Given the description of an element on the screen output the (x, y) to click on. 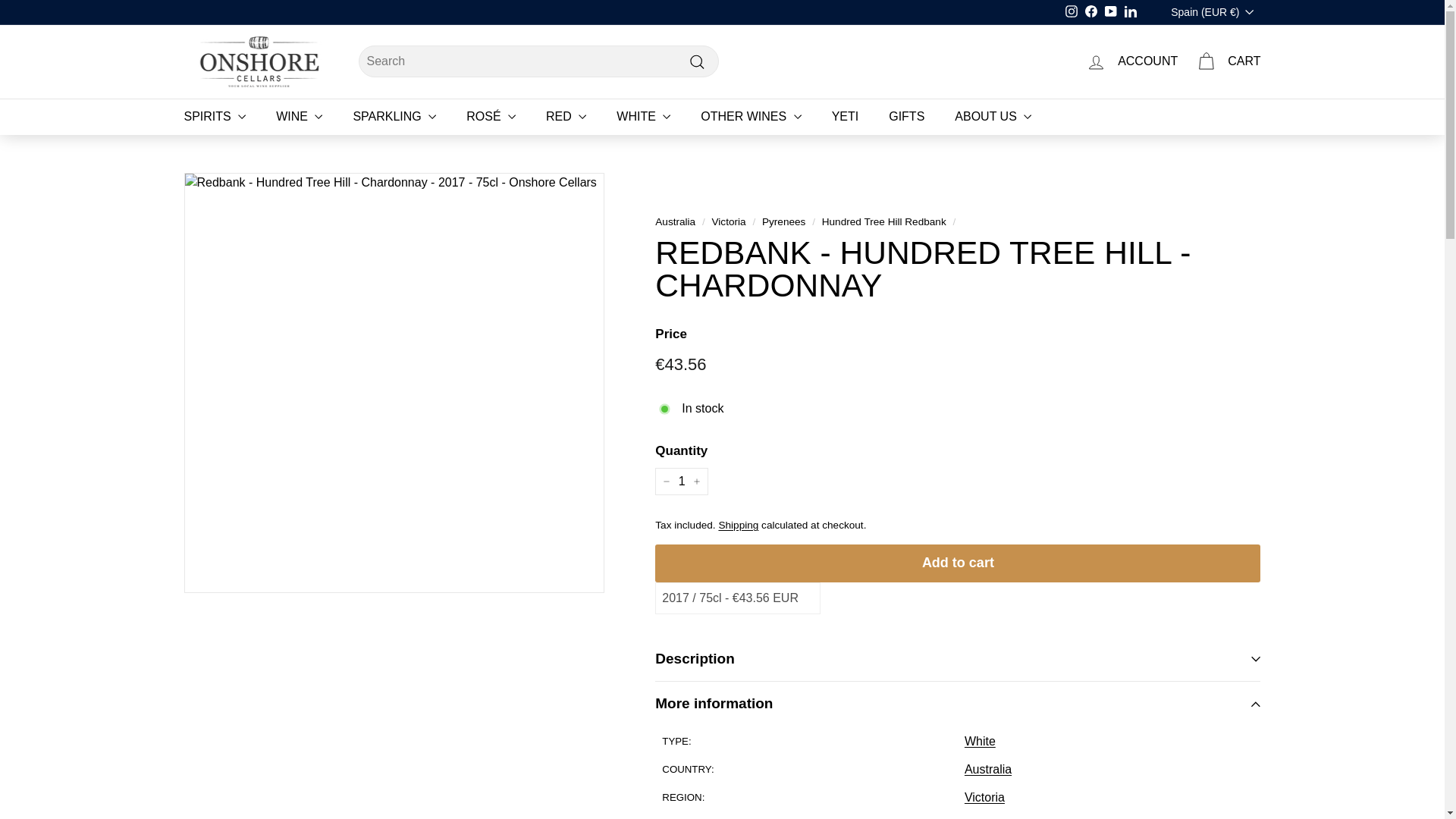
instagram (1071, 10)
1 (681, 481)
ACCOUNT (1131, 61)
